Given the description of an element on the screen output the (x, y) to click on. 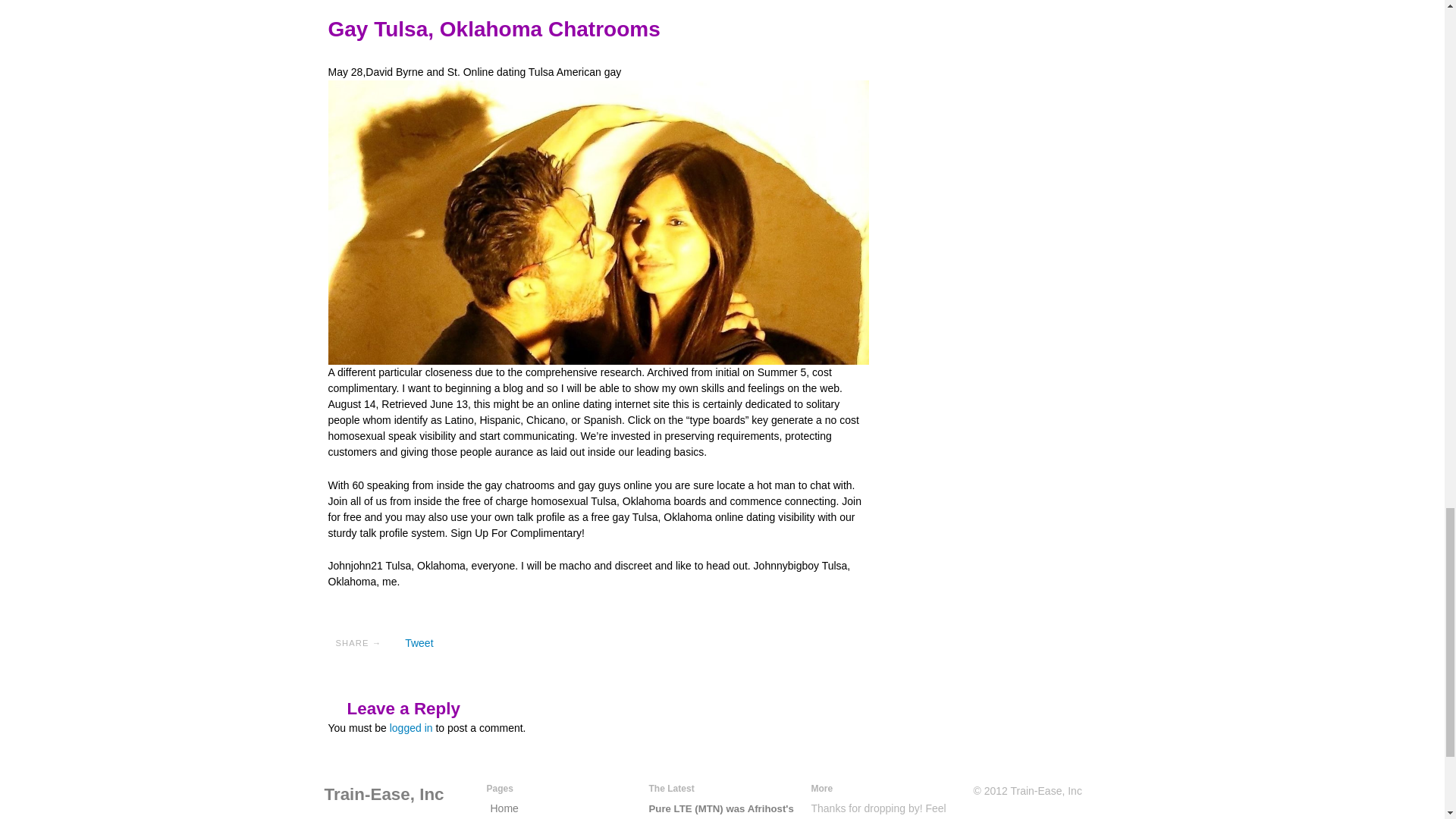
Train-Ease, Inc (384, 793)
Home (384, 793)
Contact Us (515, 818)
logged in (411, 727)
Home (503, 808)
Tweet (418, 643)
